Given the description of an element on the screen output the (x, y) to click on. 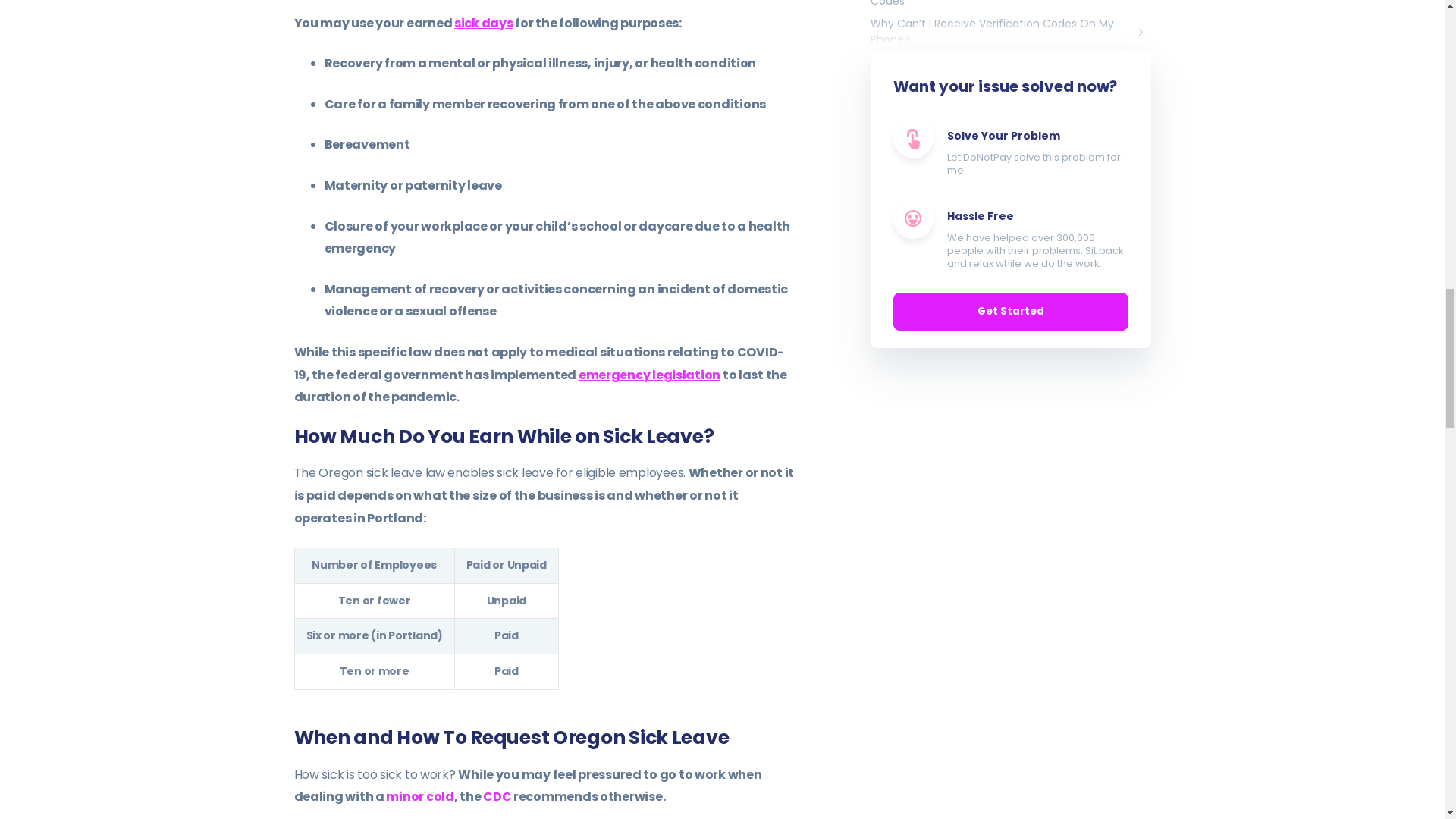
sick days (483, 22)
